Given the description of an element on the screen output the (x, y) to click on. 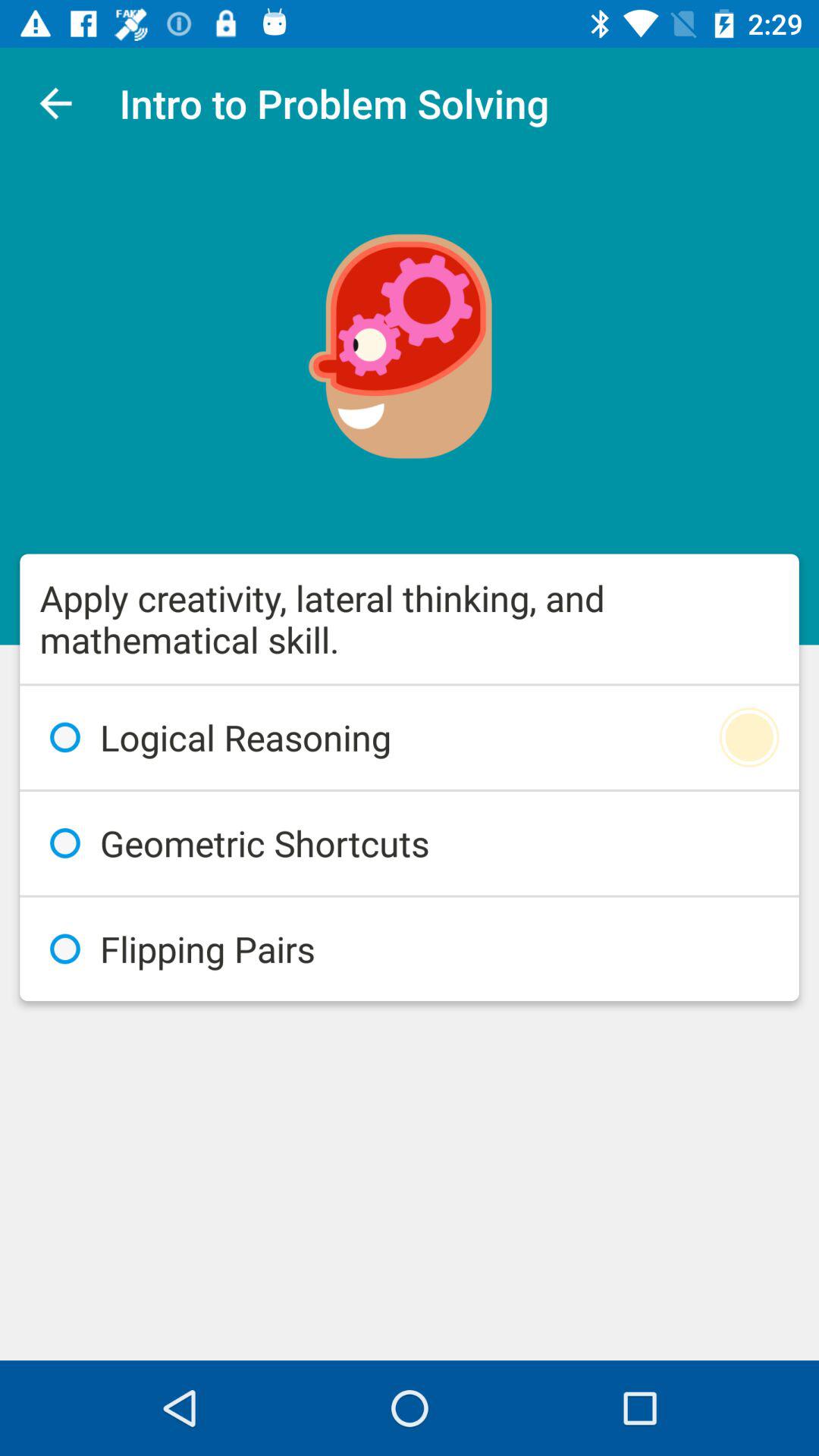
turn on icon below the logical reasoning icon (409, 843)
